Given the description of an element on the screen output the (x, y) to click on. 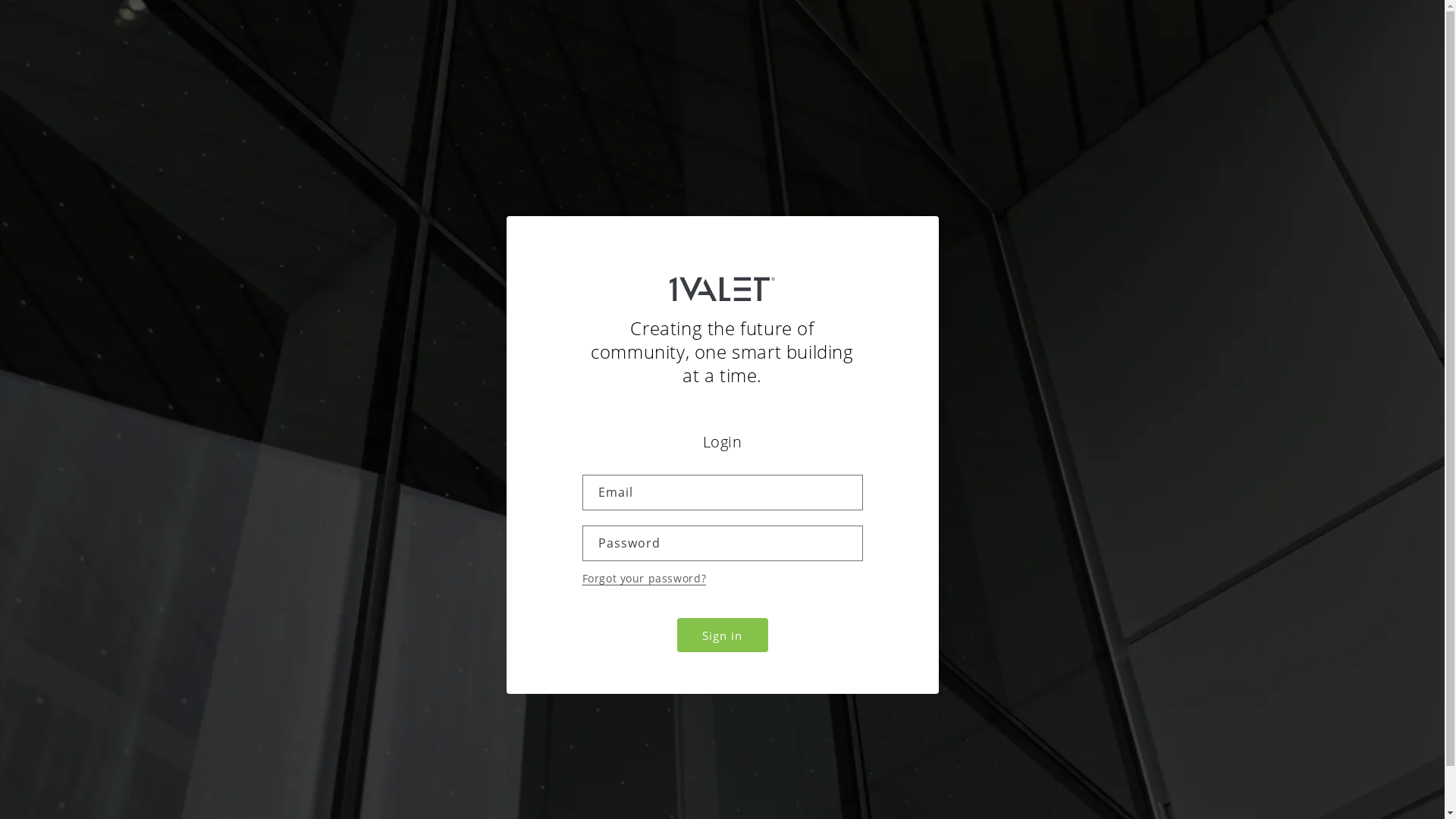
Sign in Element type: text (721, 635)
Forgot your password? Element type: text (644, 577)
